Given the description of an element on the screen output the (x, y) to click on. 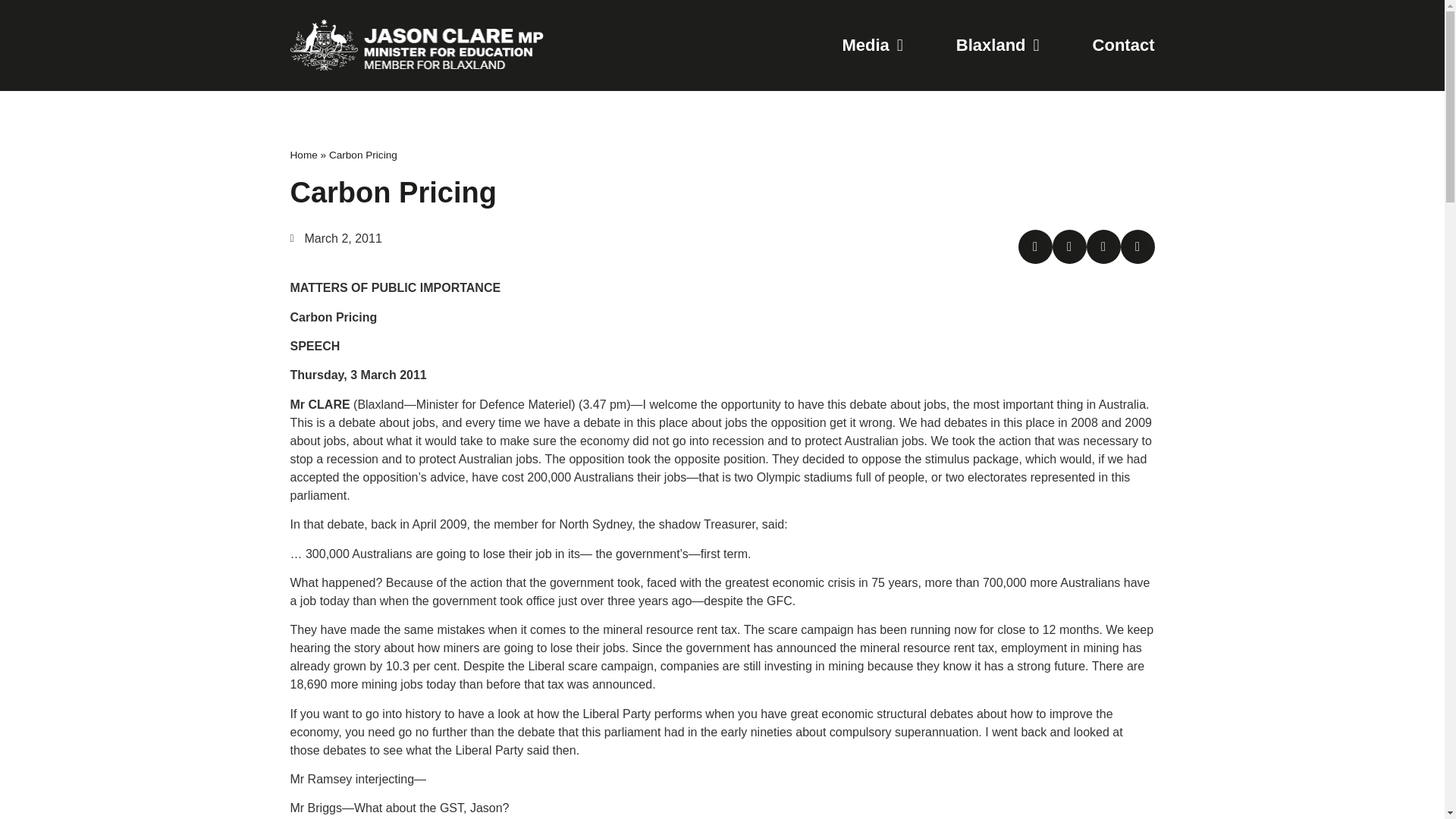
Blaxland (997, 45)
Media (871, 45)
Contact (1123, 45)
